Given the description of an element on the screen output the (x, y) to click on. 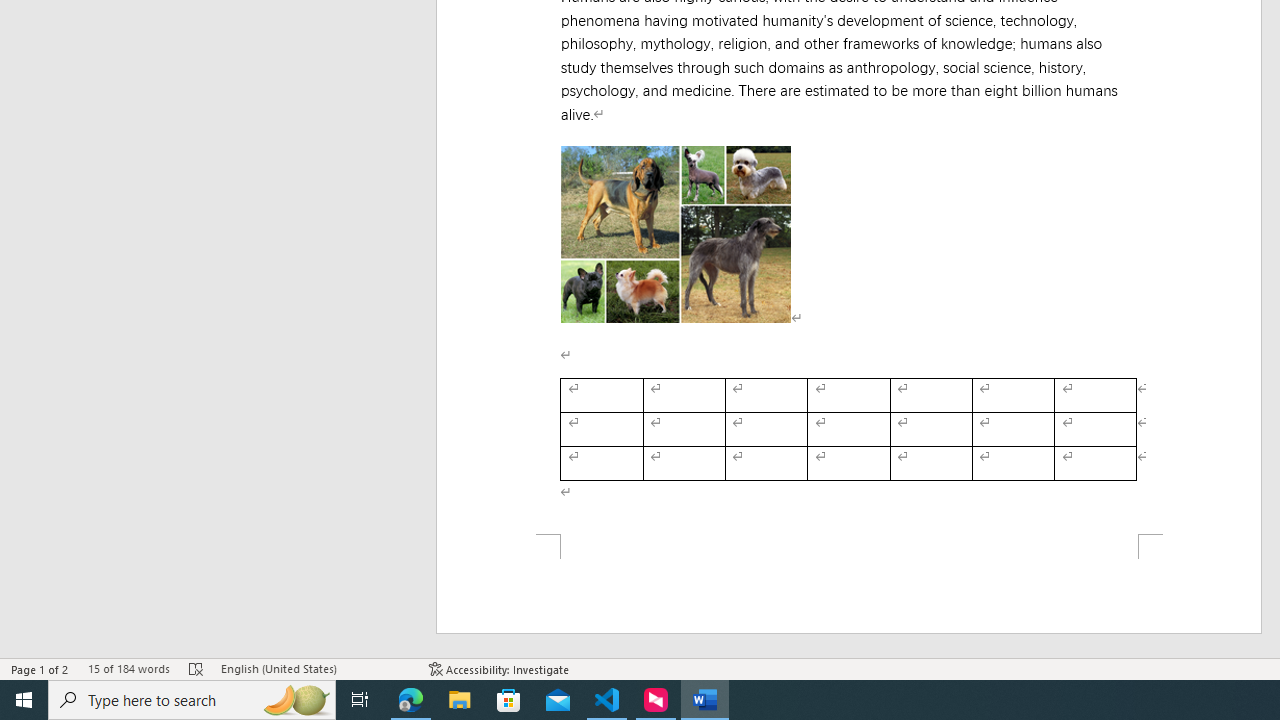
Spelling and Grammar Check Errors (196, 668)
Page Number Page 1 of 2 (39, 668)
Morphological variation in six dogs (675, 234)
Language English (United States) (315, 668)
Accessibility Checker Accessibility: Investigate (499, 668)
Word Count 15 of 184 words (128, 668)
